Given the description of an element on the screen output the (x, y) to click on. 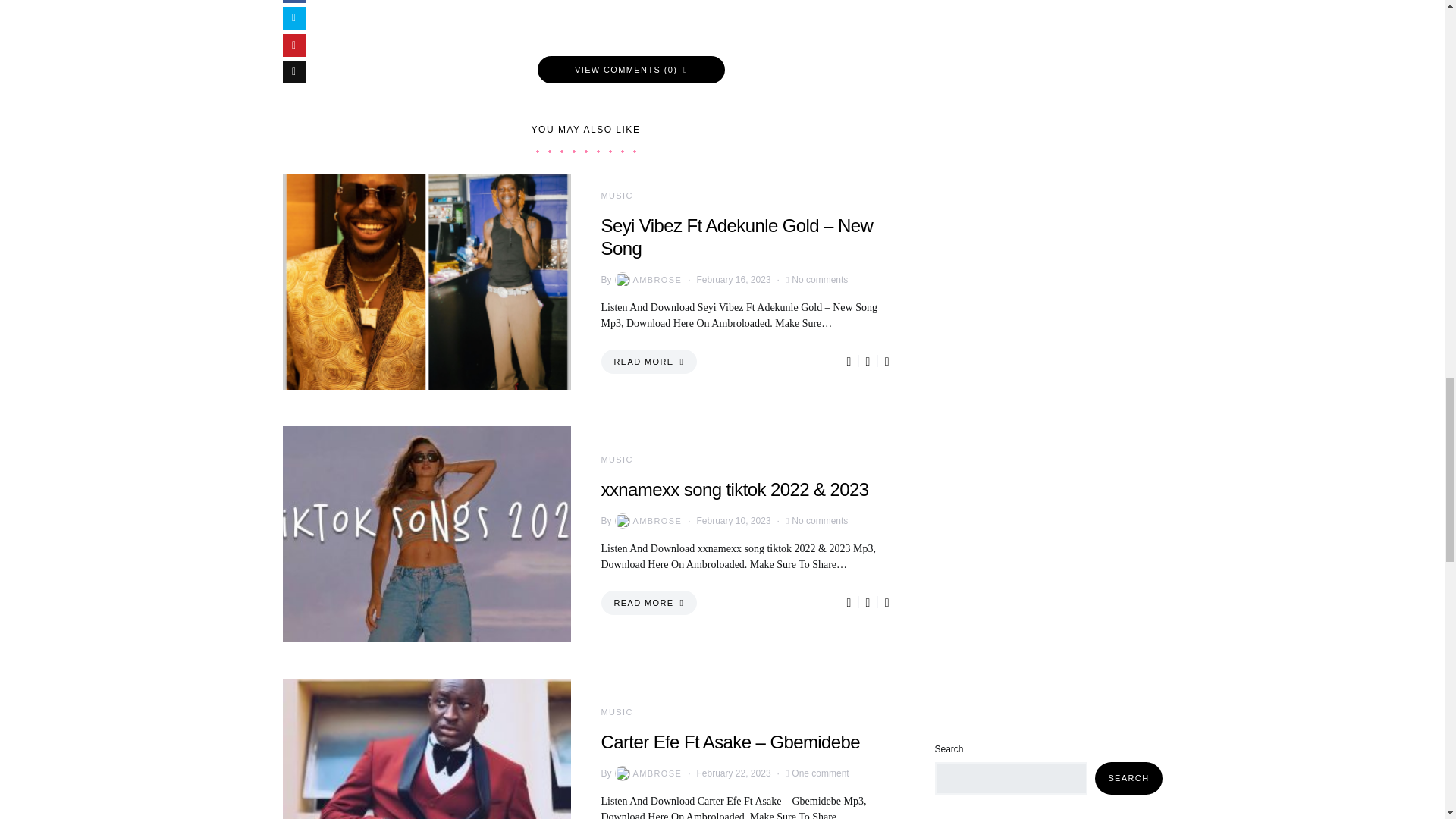
View all posts by Ambrose (646, 279)
MUSIC (615, 194)
View all posts by Ambrose (646, 520)
View all posts by Ambrose (646, 773)
